Given the description of an element on the screen output the (x, y) to click on. 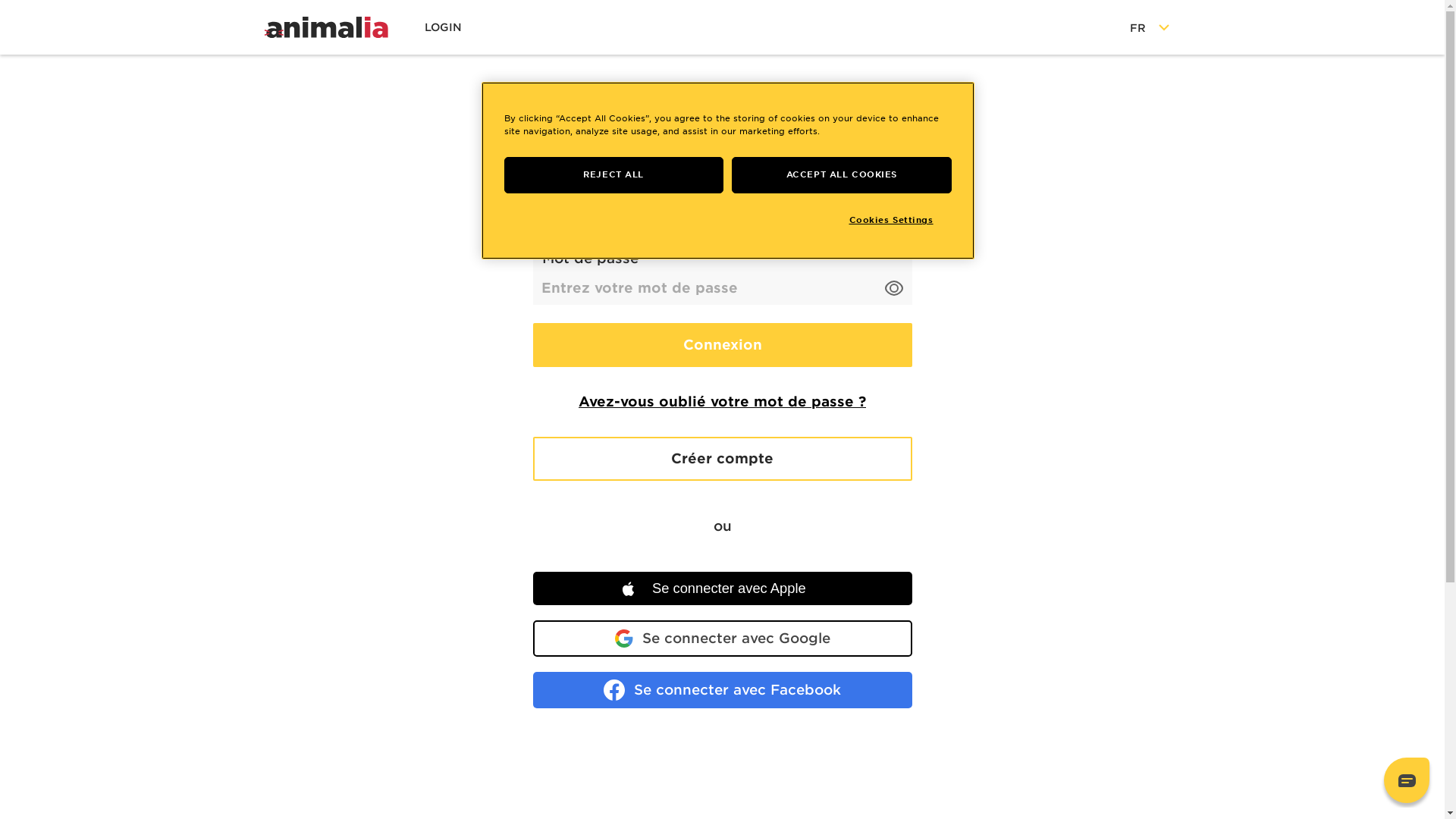
Se connecter avec Apple Element type: text (721, 588)
REJECT ALL Element type: text (612, 174)
Connexion Element type: text (721, 345)
Cookies Settings Element type: text (900, 220)
Se connecter avec Facebook Element type: text (721, 689)
FR Element type: text (1151, 27)
LOGIN Element type: text (442, 26)
Chat Element type: hover (1406, 778)
Se connecter avec Google Element type: text (721, 638)
ACCEPT ALL COOKIES Element type: text (840, 174)
